Given the description of an element on the screen output the (x, y) to click on. 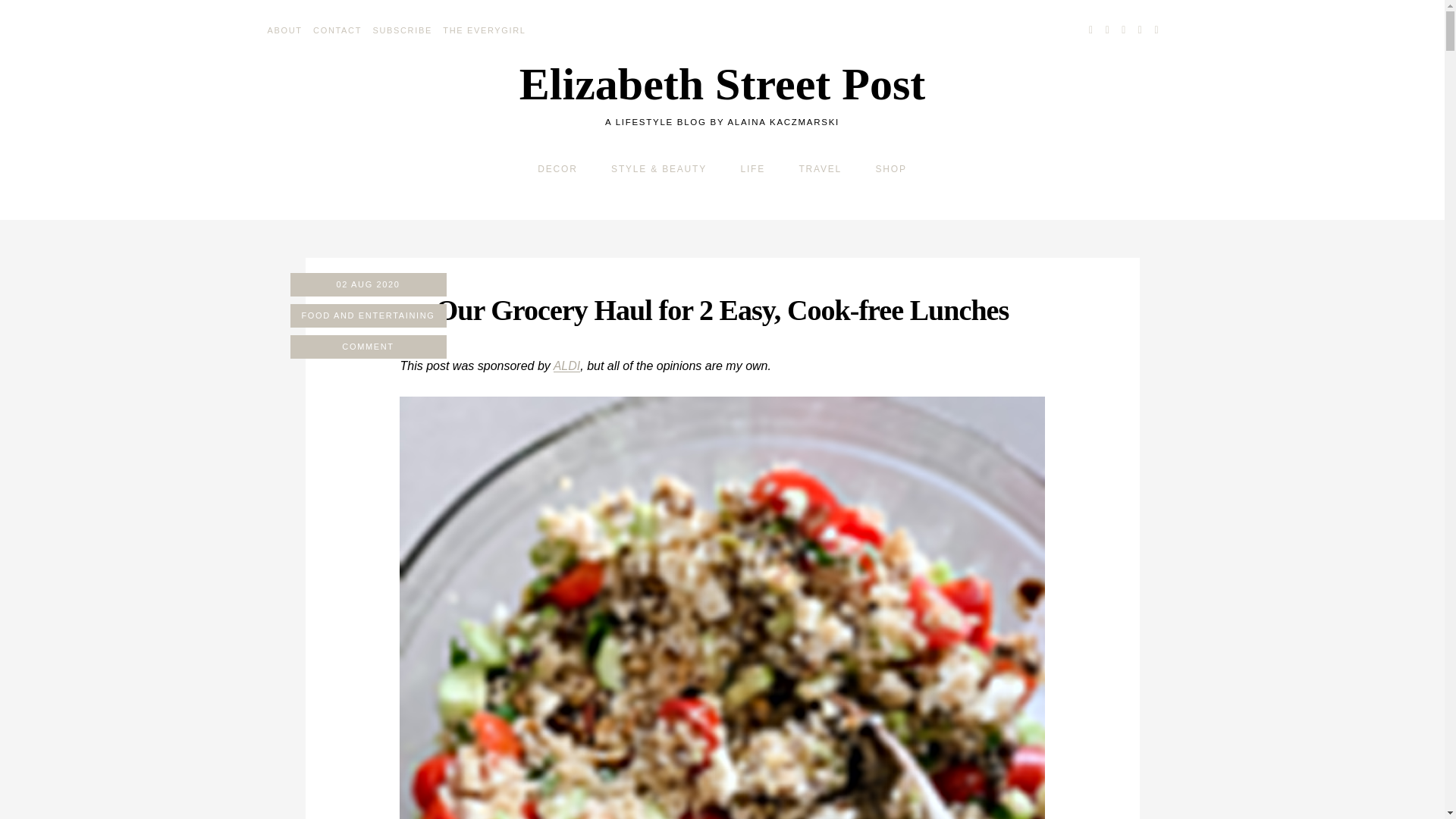
SUBSCRIBE (401, 30)
View all posts in Food and Entertaining (367, 315)
CONTACT (337, 30)
DECOR (556, 168)
THE EVERYGIRL (483, 30)
Elizabeth Street Post (721, 83)
ABOUT (283, 30)
LIFE (752, 168)
